Given the description of an element on the screen output the (x, y) to click on. 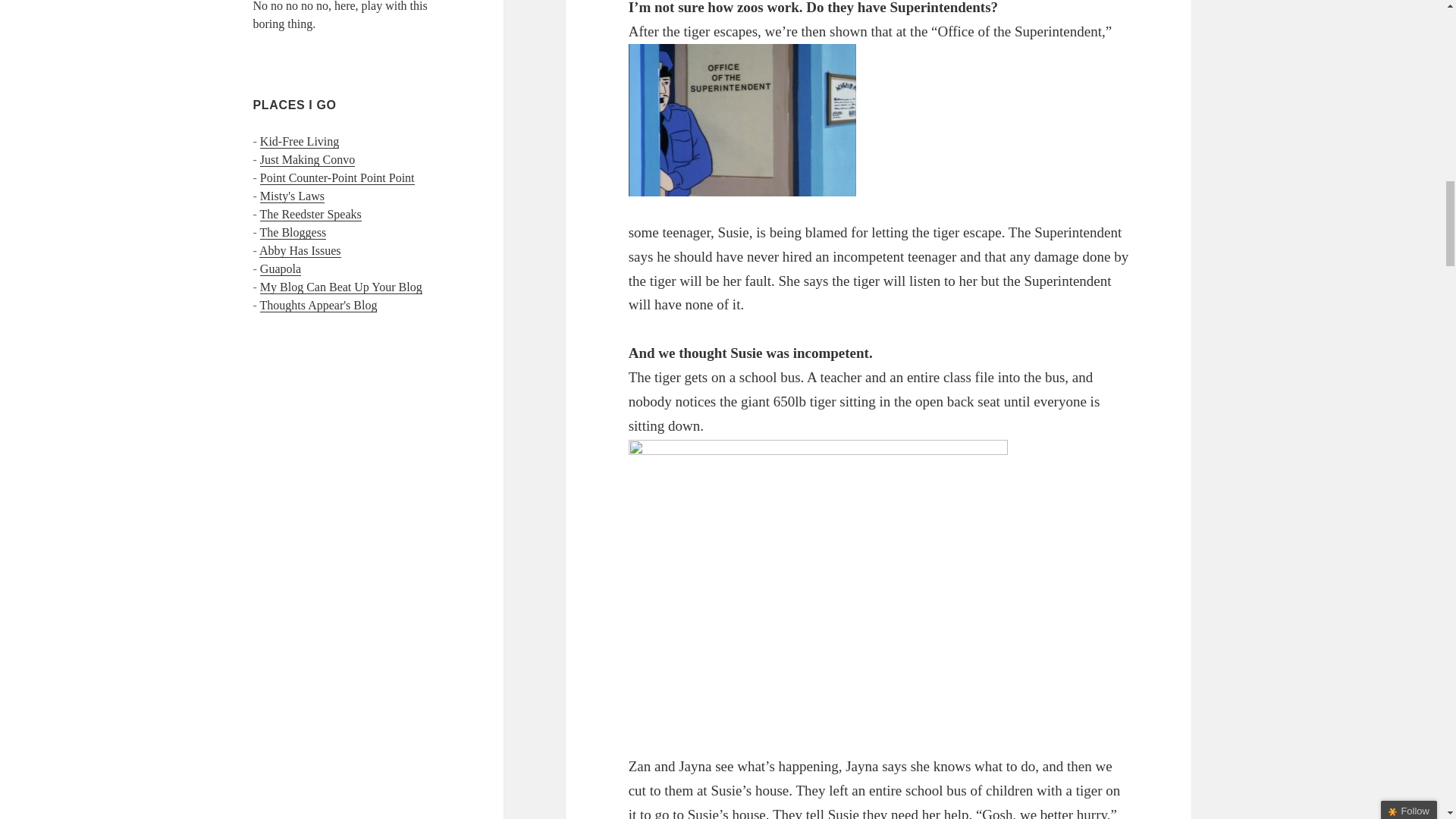
Point Counter-Point Point Point (337, 178)
The Bloggess (293, 232)
Kid-Free Living (299, 141)
Super Friends Offie (742, 120)
Guapola (280, 269)
The Reedster Speaks (310, 214)
Abby Has Issues (299, 250)
Misty's Laws (292, 196)
No no no no no, here, play with this boring thing. (340, 15)
Just Making Convo (307, 160)
